Given the description of an element on the screen output the (x, y) to click on. 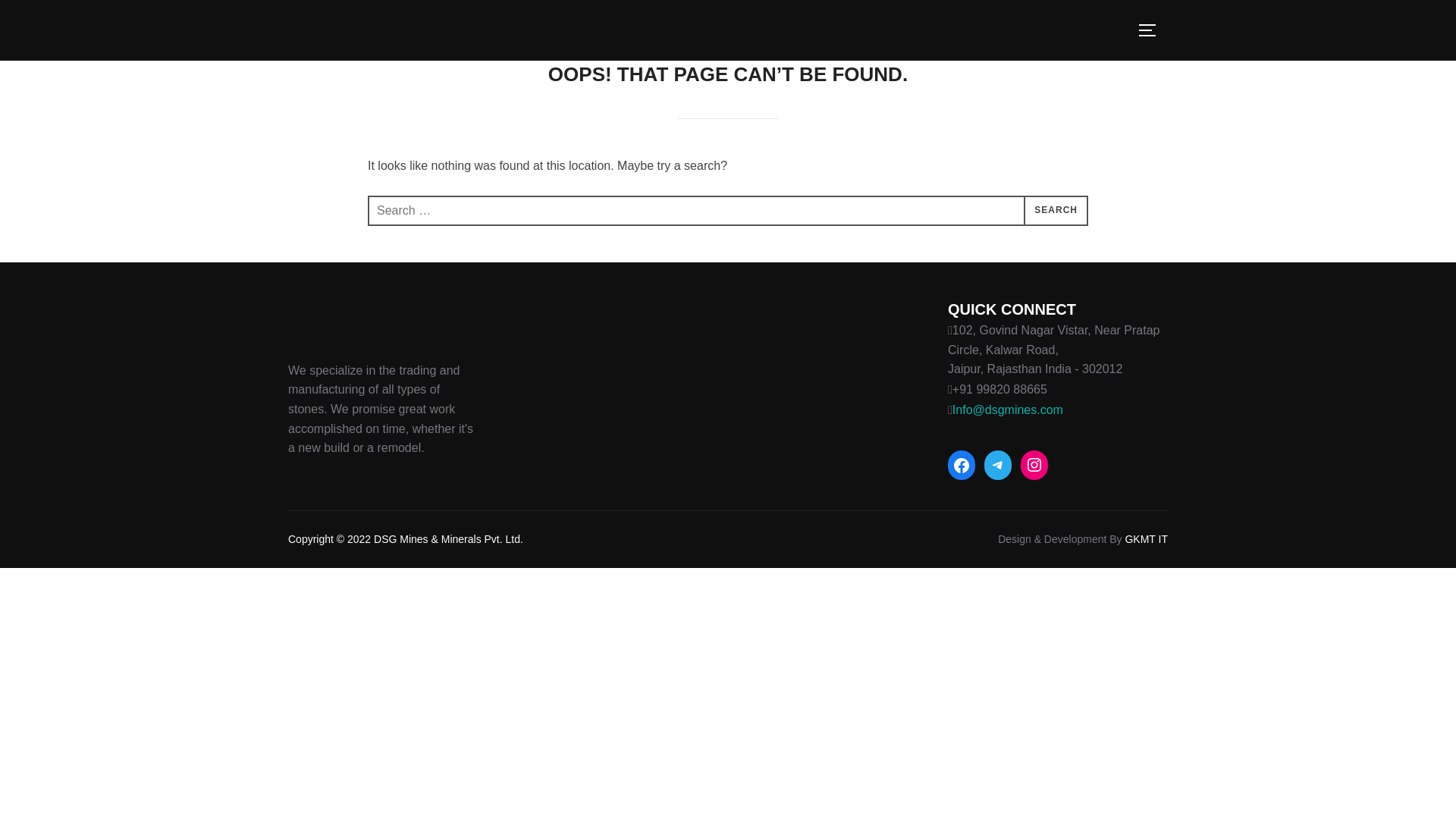
Telegram (997, 464)
GKMT IT (1145, 539)
Facebook (961, 465)
send mail (1007, 409)
SEARCH (1055, 210)
Instagram (1034, 464)
